Given the description of an element on the screen output the (x, y) to click on. 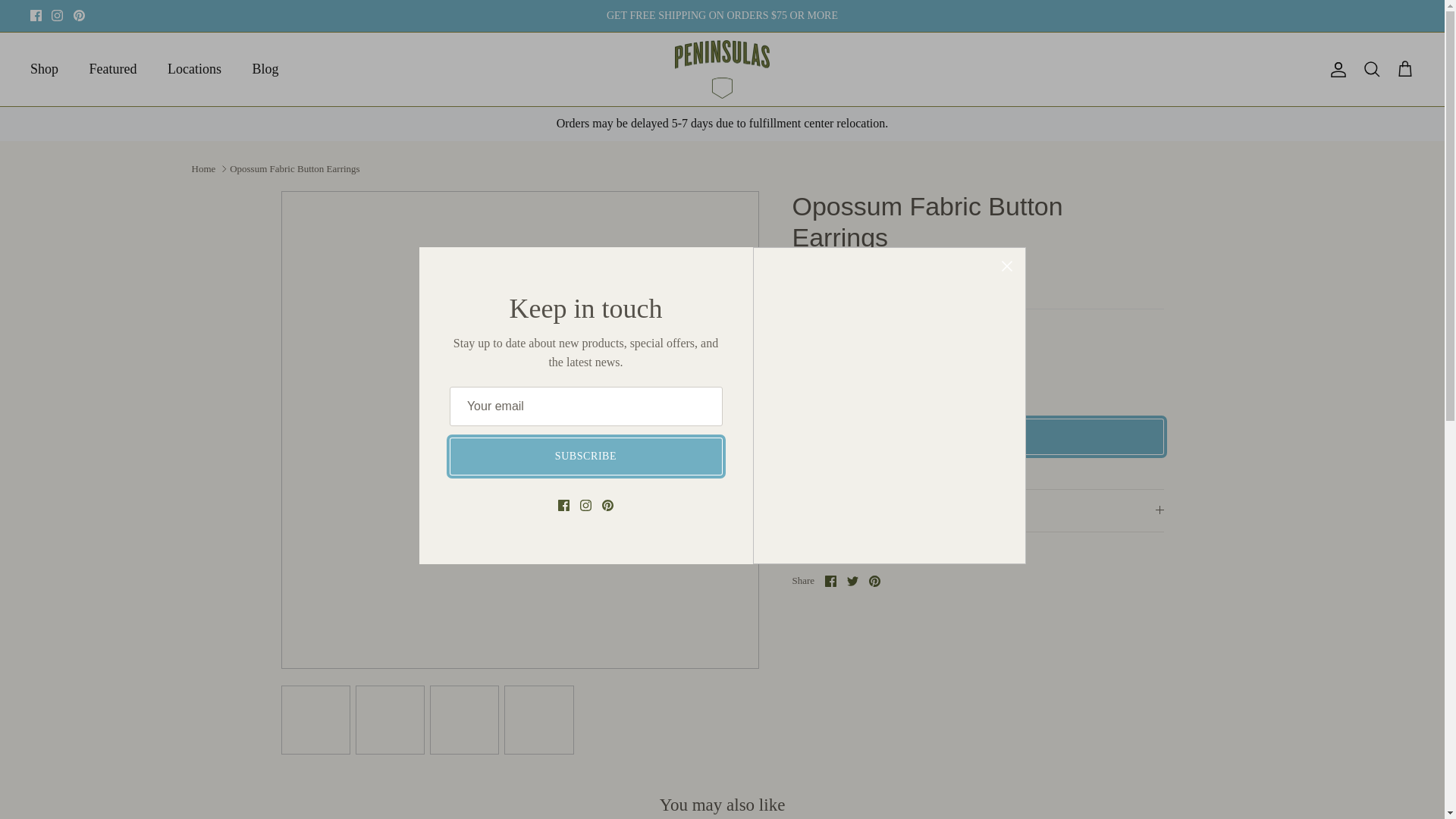
Search (1371, 69)
Plus (897, 370)
Peninsulas (722, 69)
Minus (809, 370)
Pinterest (874, 581)
Locations (194, 69)
Account (1335, 69)
Instagram (56, 15)
Pinterest (78, 15)
Blog (265, 69)
Instagram (56, 15)
Cart (1404, 69)
Featured (113, 69)
Facebook (36, 15)
1 (853, 370)
